Given the description of an element on the screen output the (x, y) to click on. 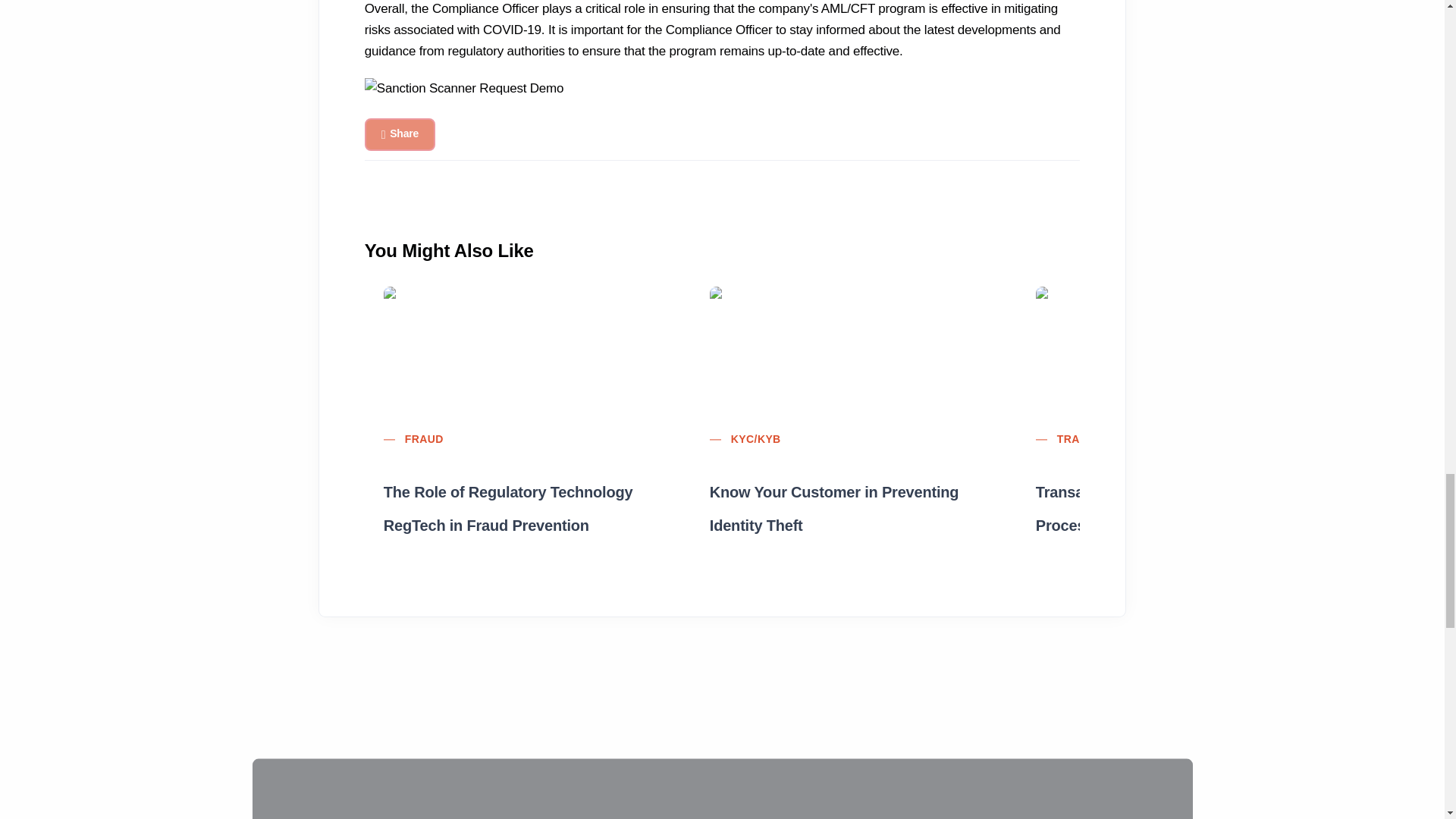
Transaction Monitoring for Payment Processors (1168, 498)
Know Your Customer in Preventing Identity Theft  (842, 498)
